Given the description of an element on the screen output the (x, y) to click on. 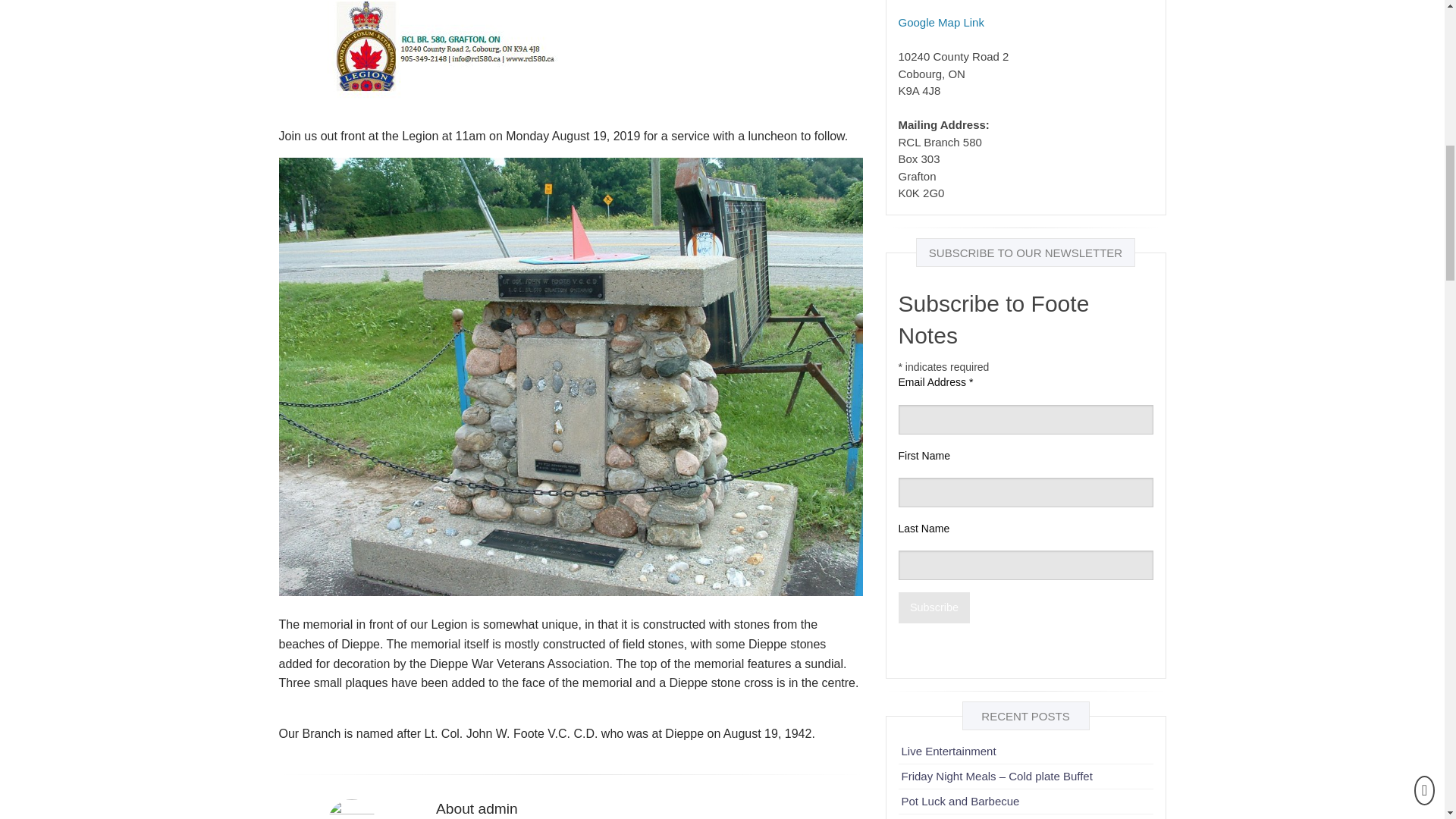
Subscribe (934, 607)
All posts by admin (351, 809)
